Given the description of an element on the screen output the (x, y) to click on. 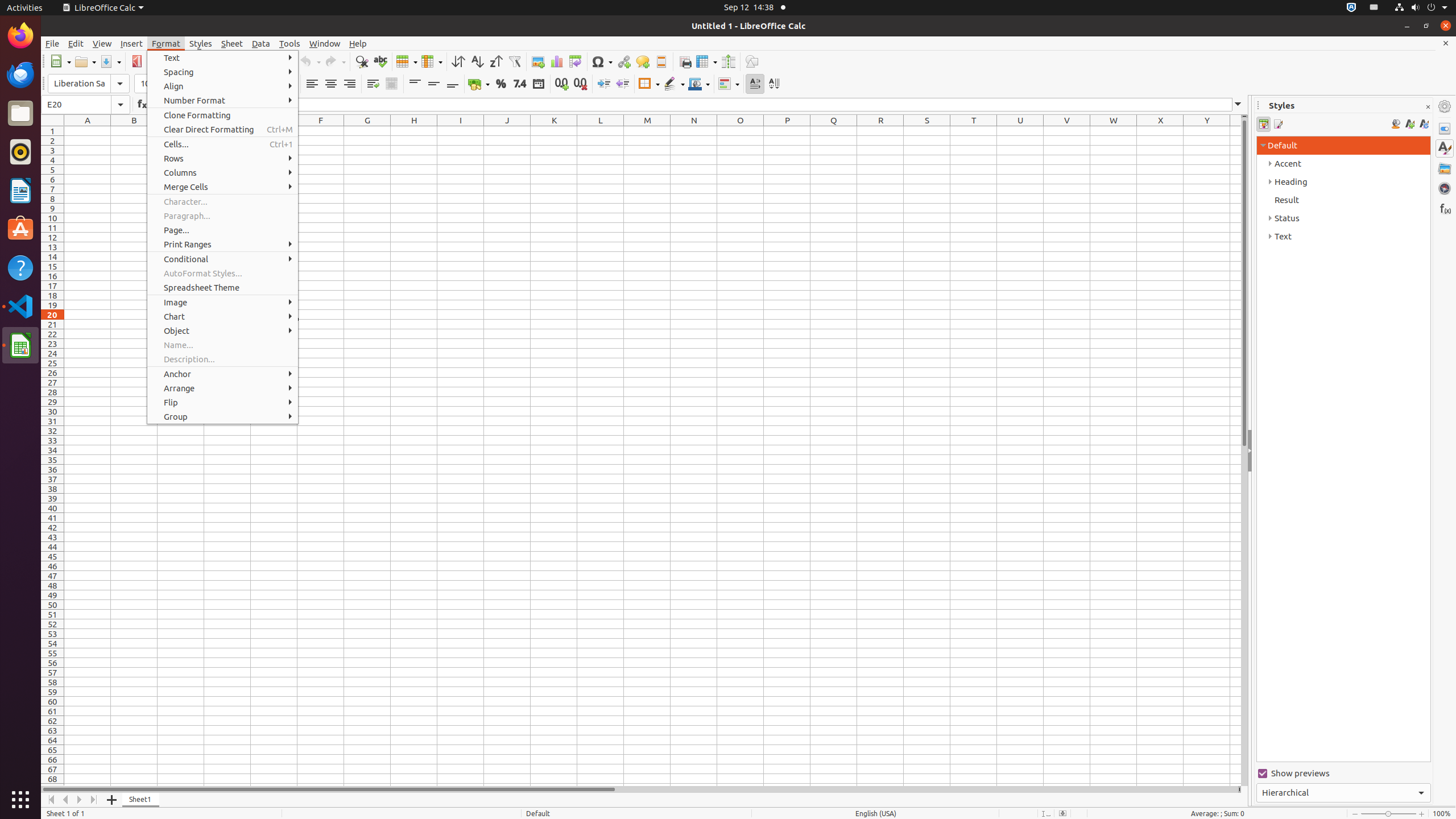
Font Name Element type: combo-box (88, 83)
Cells... Element type: menu-item (222, 144)
LibreOffice Calc Element type: menu (102, 7)
Delete Decimal Place Element type: push-button (580, 83)
R1 Element type: table-cell (880, 130)
